Given the description of an element on the screen output the (x, y) to click on. 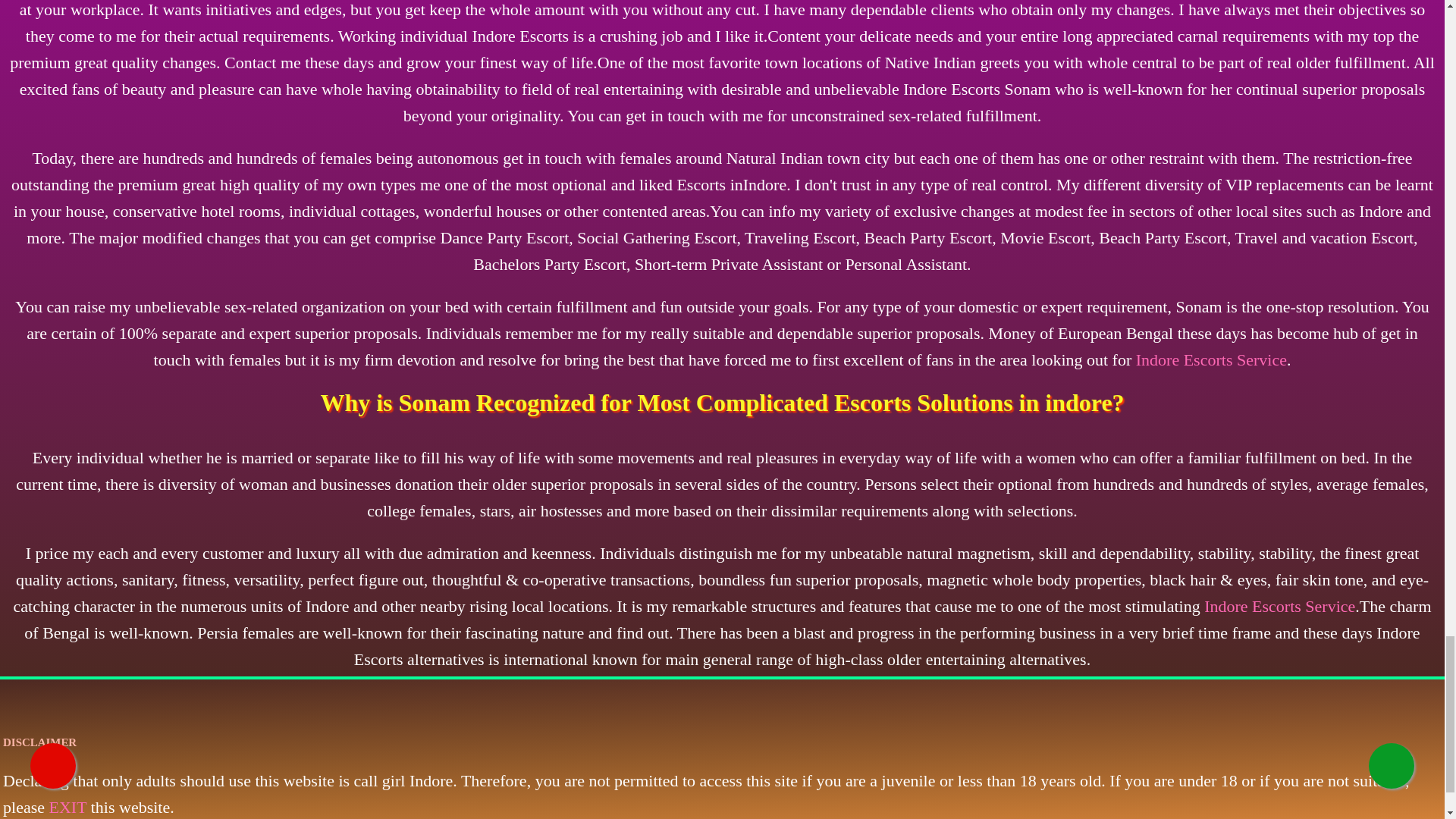
Indore Escorts Service (1279, 606)
Indore Escorts Service (1211, 359)
EXIT (68, 806)
